Given the description of an element on the screen output the (x, y) to click on. 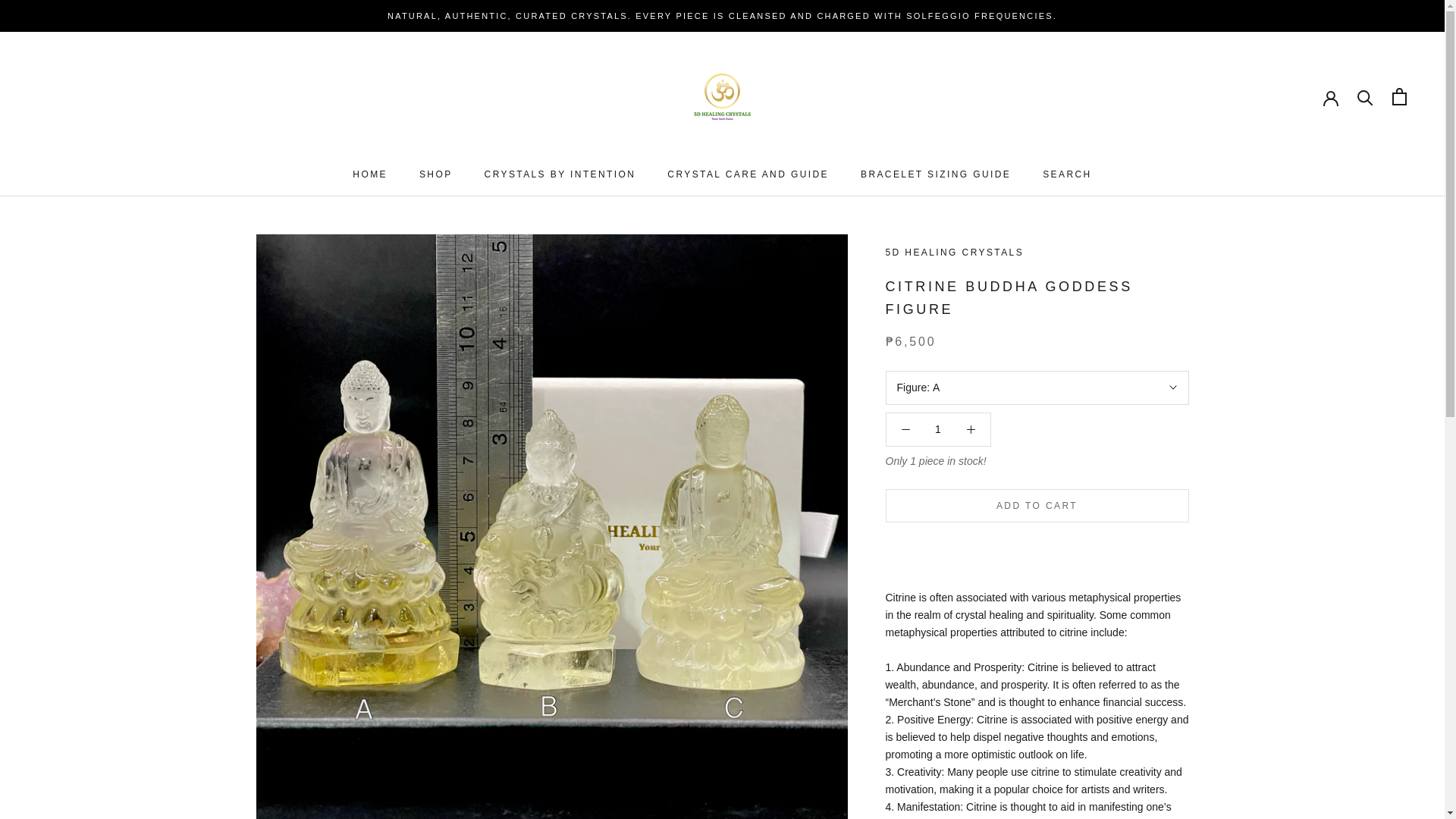
CRYSTAL CARE AND GUIDE (1066, 173)
1 (935, 173)
CRYSTALS BY INTENTION (435, 173)
